Given the description of an element on the screen output the (x, y) to click on. 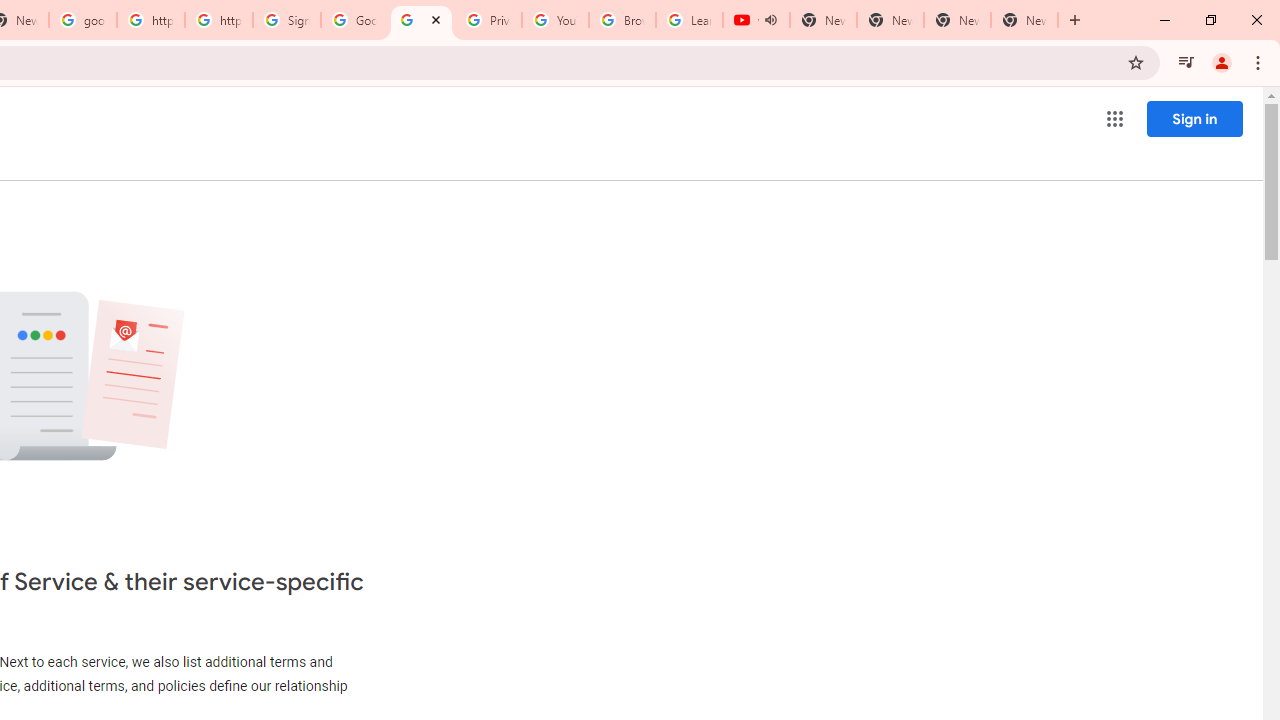
Sign in - Google Accounts (287, 20)
YouTube (555, 20)
https://scholar.google.com/ (150, 20)
